Given the description of an element on the screen output the (x, y) to click on. 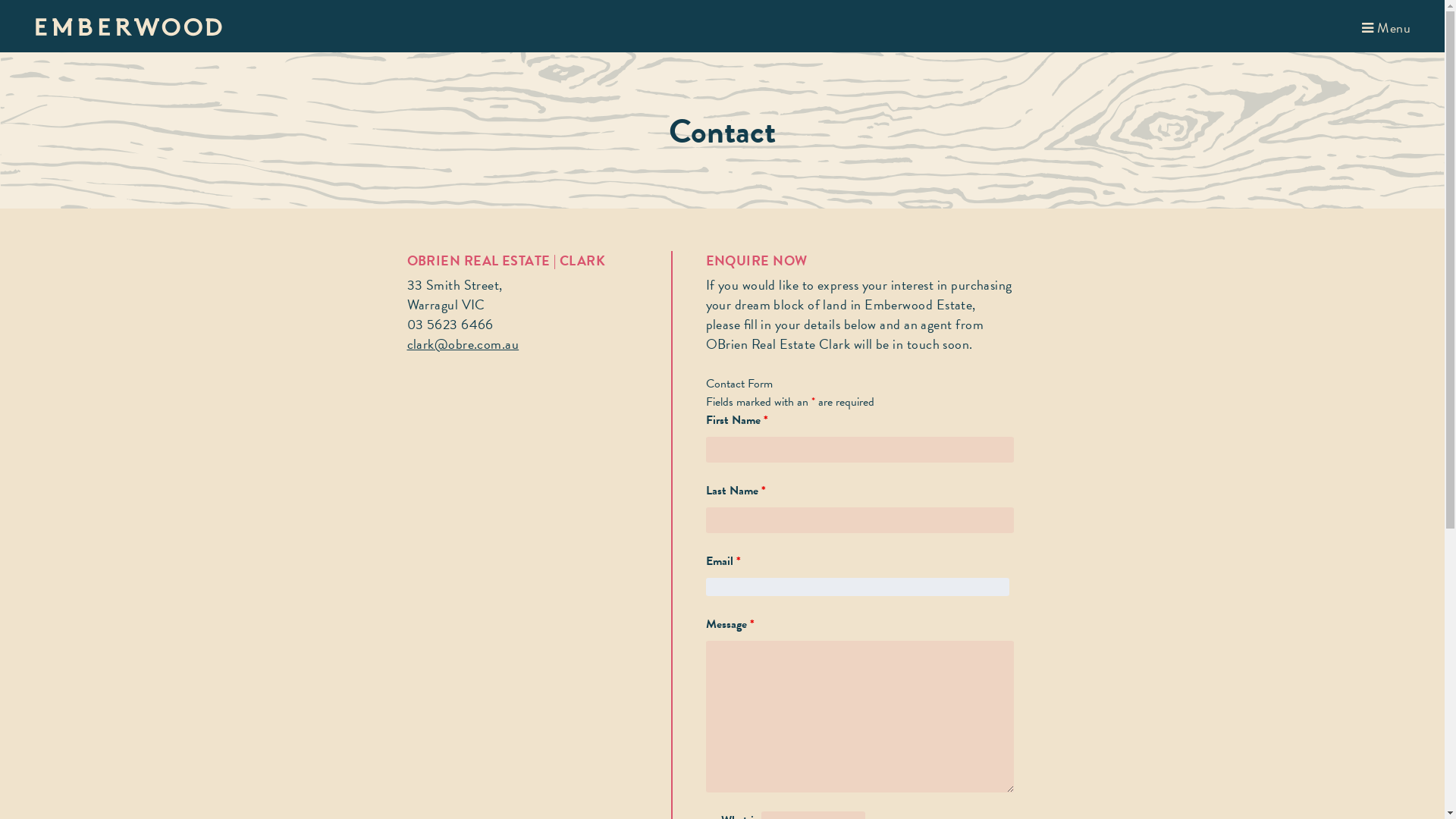
clark@obre.com.au Element type: text (462, 343)
